Given the description of an element on the screen output the (x, y) to click on. 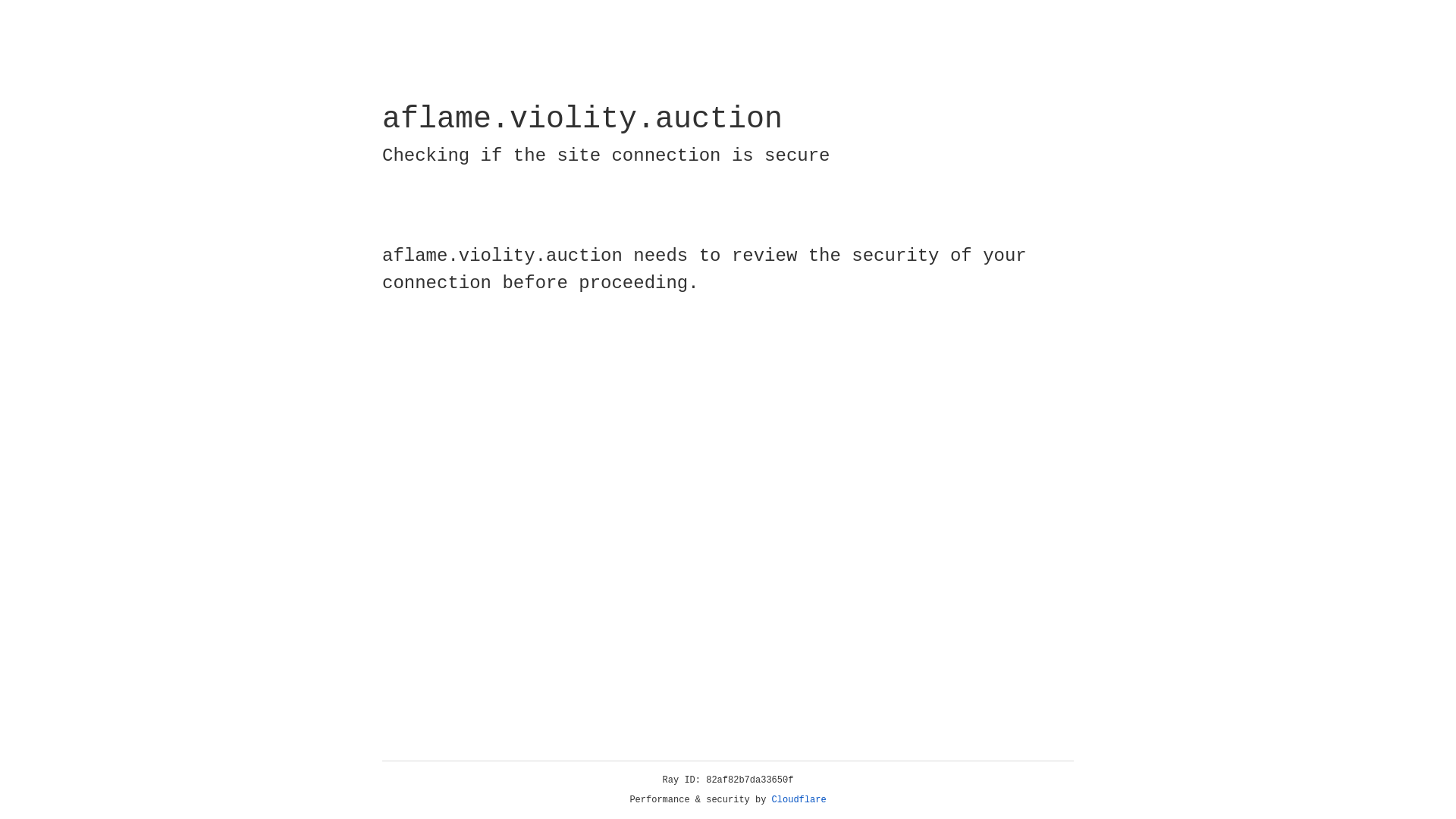
Cloudflare Element type: text (798, 799)
